Given the description of an element on the screen output the (x, y) to click on. 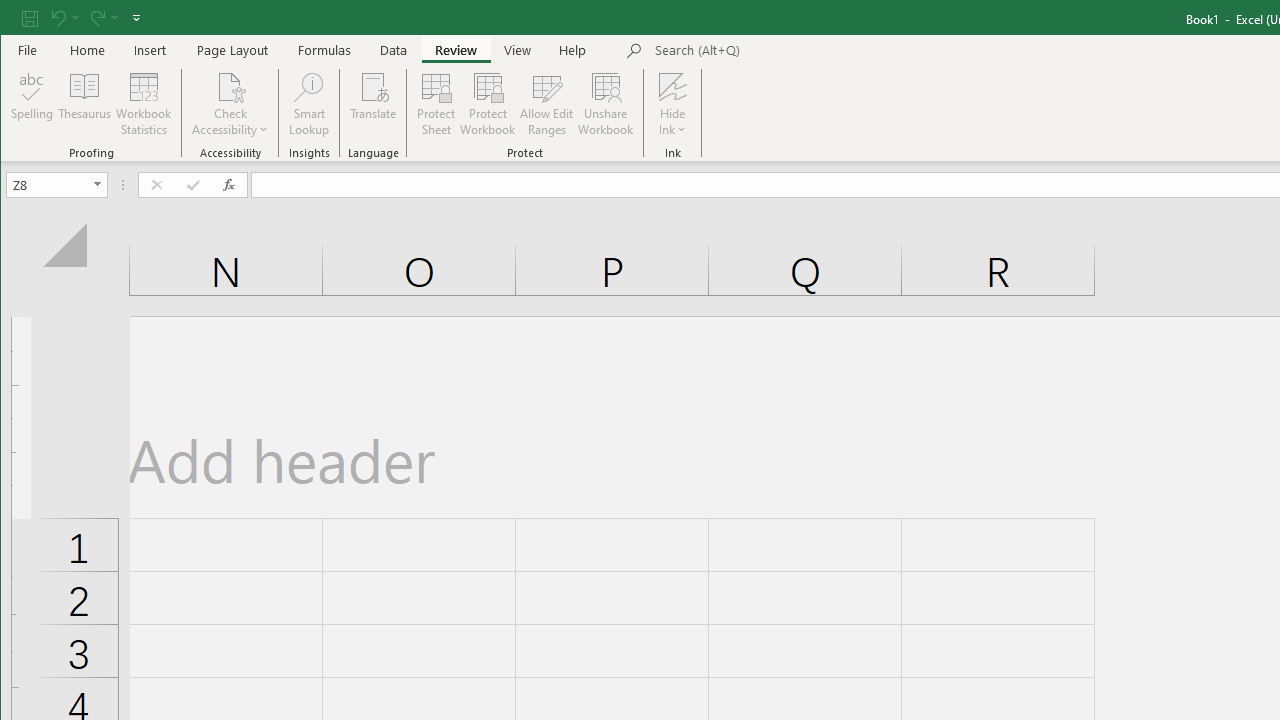
Thesaurus... (84, 104)
Name Box (48, 184)
Open (98, 184)
Undo (57, 17)
Save (29, 17)
Allow Edit Ranges (547, 104)
Quick Access Toolbar (83, 17)
View (518, 50)
Page Layout (231, 50)
Help (573, 50)
Undo (63, 17)
Unshare Workbook (606, 104)
Insert (150, 50)
Name Box (56, 184)
